Given the description of an element on the screen output the (x, y) to click on. 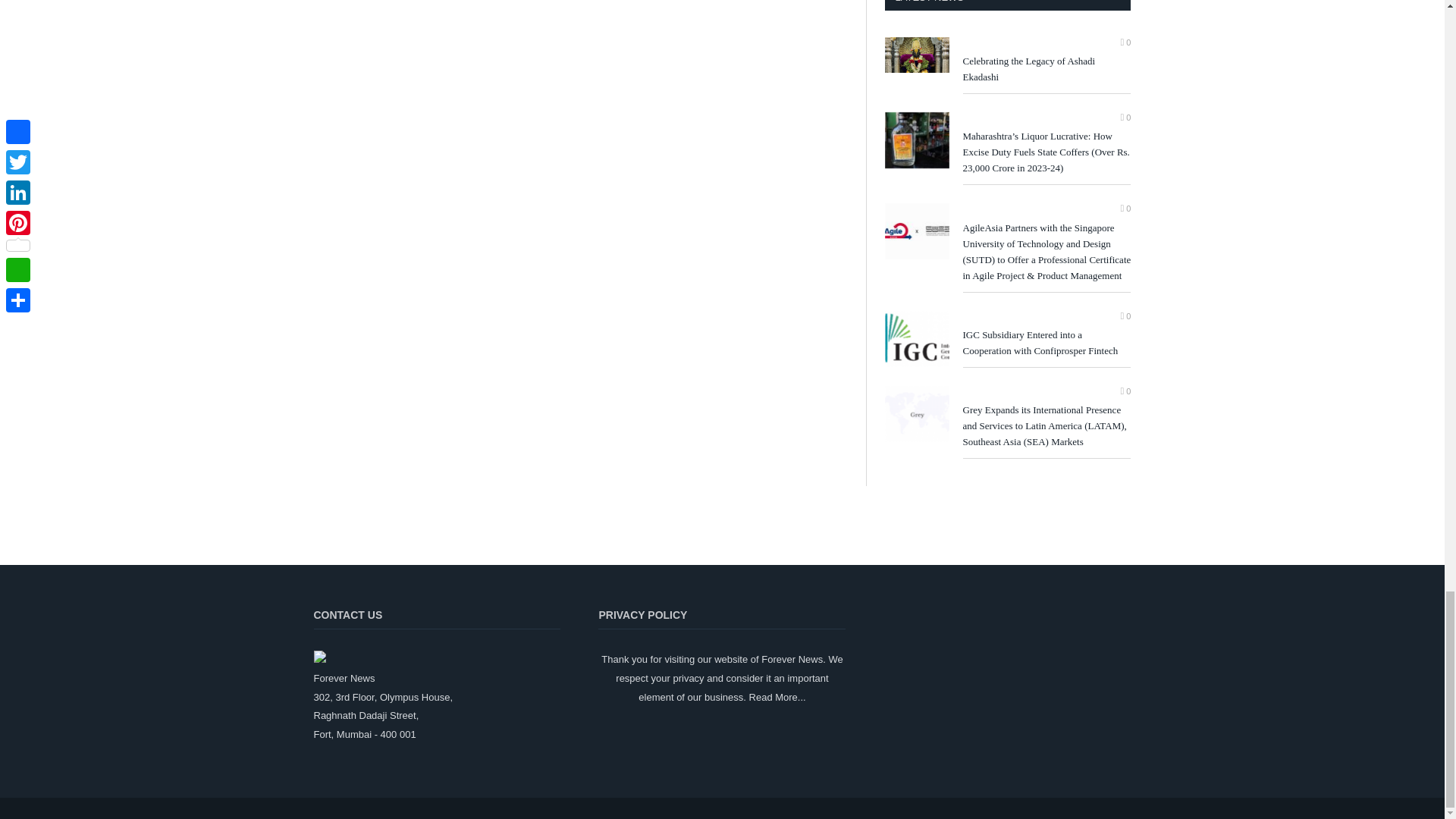
Celebrating the Legacy of Ashadi Ekadashi  (1046, 69)
0 (1126, 41)
0 (1126, 207)
0 (1126, 117)
